Given the description of an element on the screen output the (x, y) to click on. 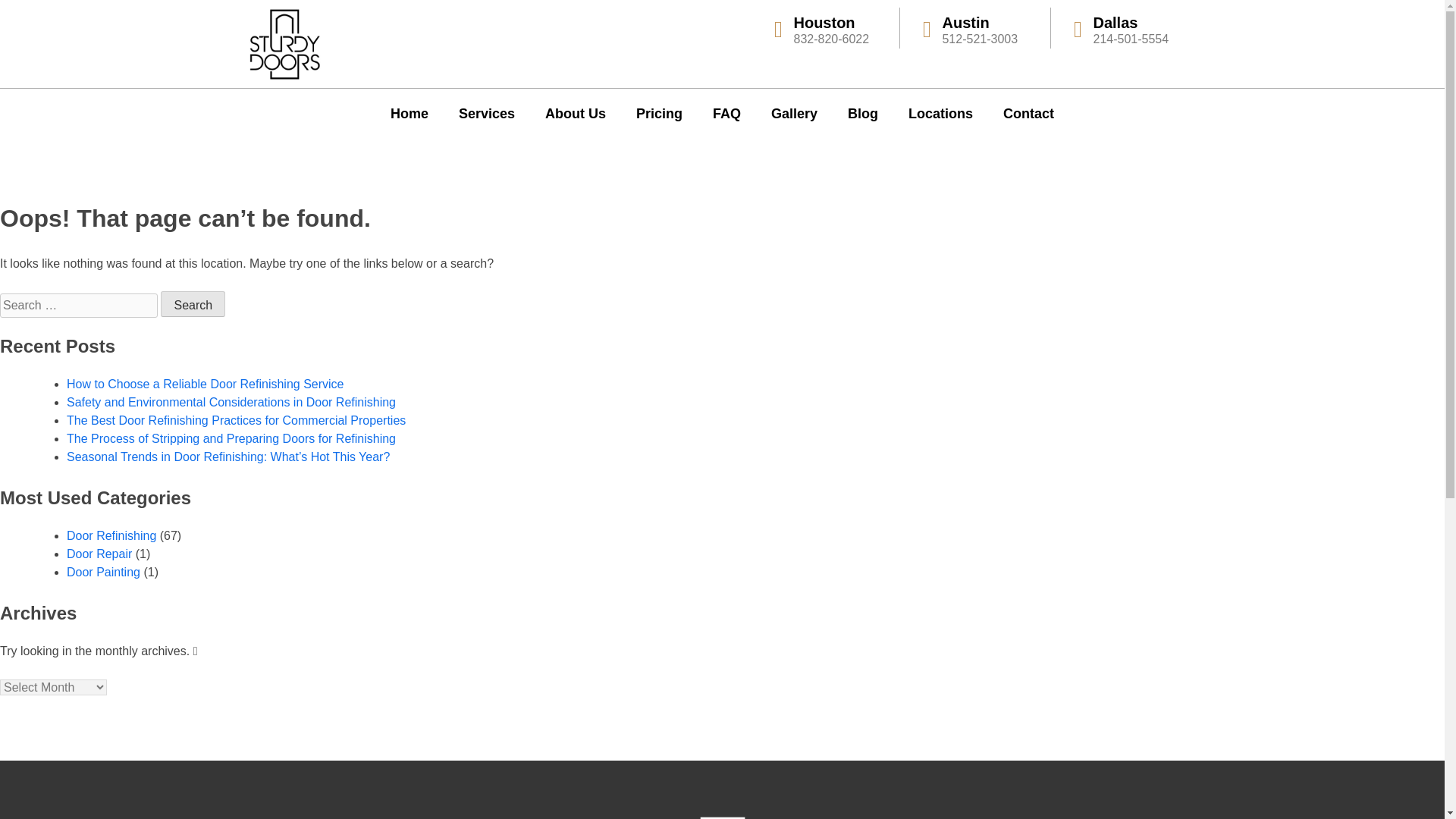
Search (192, 303)
Search (192, 303)
Houston (823, 22)
